Given the description of an element on the screen output the (x, y) to click on. 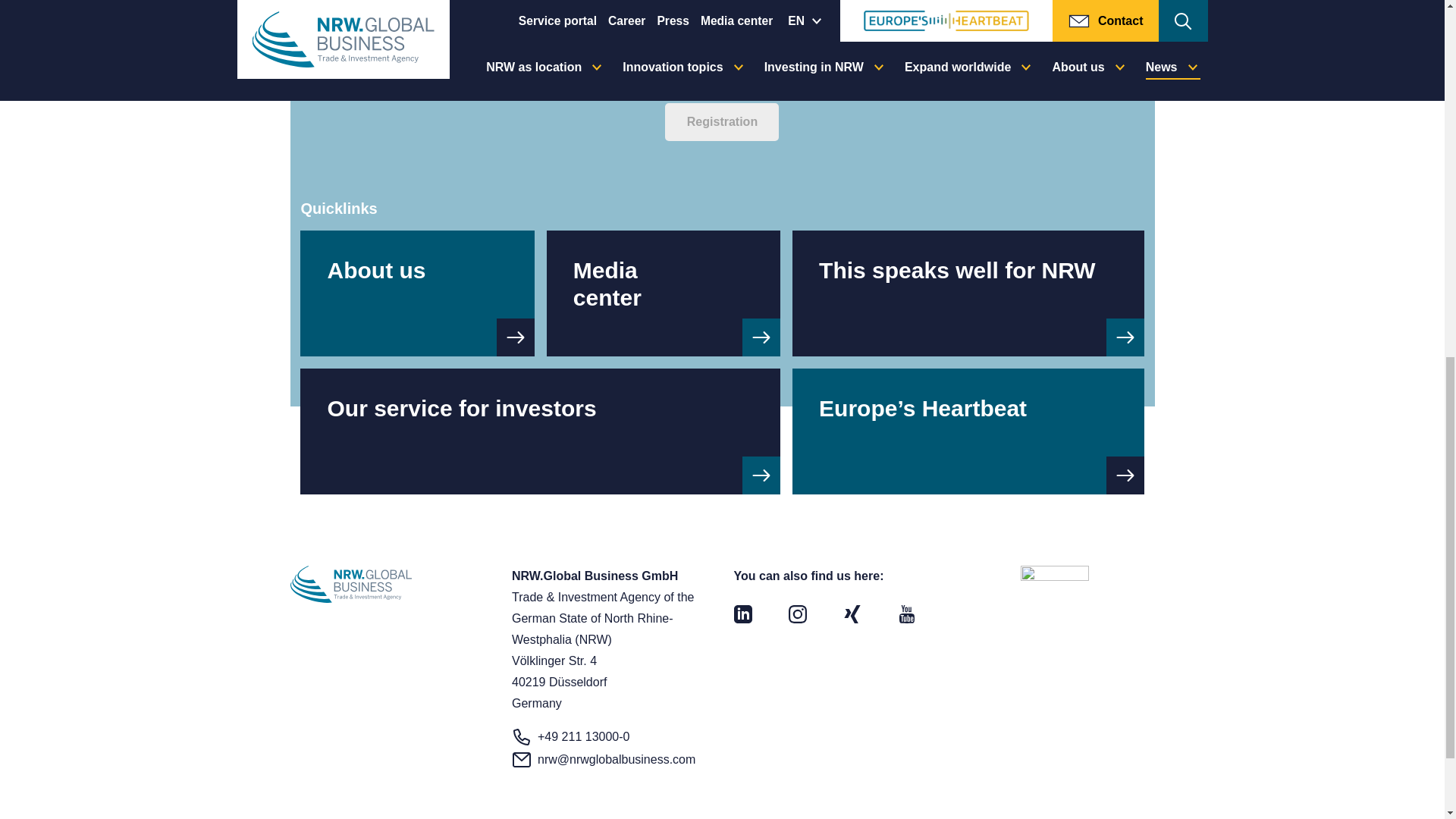
Xing (852, 613)
LinkedIn (742, 613)
YouTube (906, 613)
Instagram (797, 613)
